Given the description of an element on the screen output the (x, y) to click on. 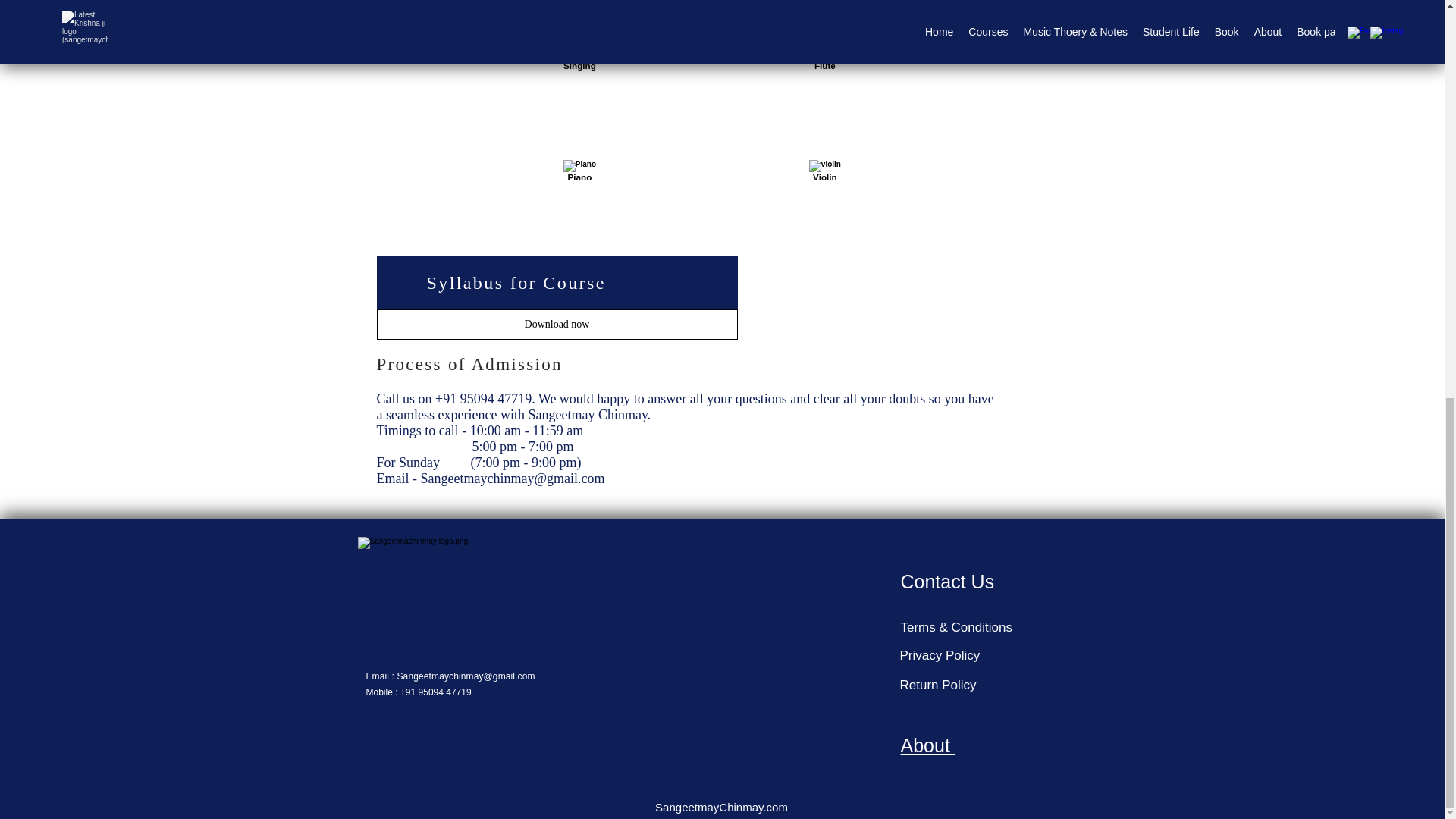
Download now (555, 324)
Return Policy  (939, 684)
About  (928, 744)
Privacy Policy  (941, 655)
